Given the description of an element on the screen output the (x, y) to click on. 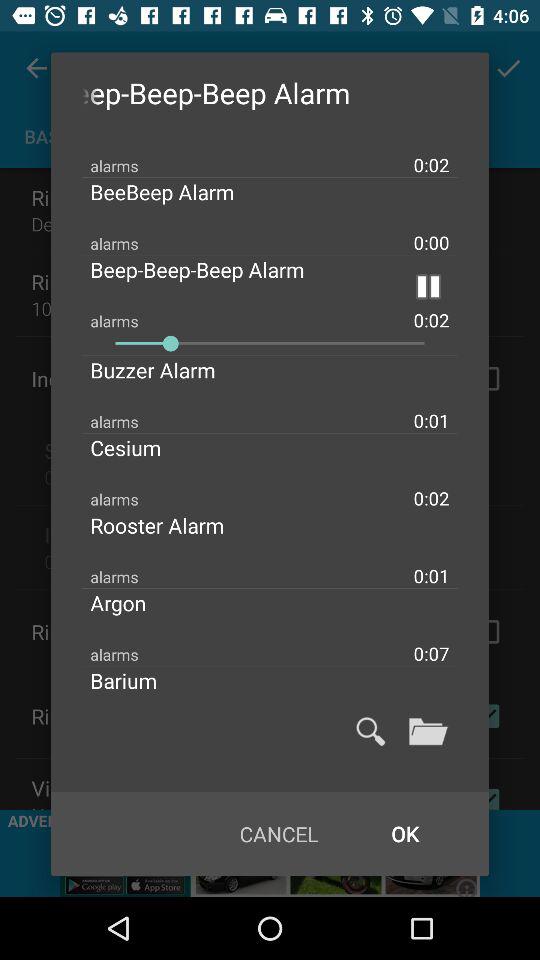
swipe until the buzzer alarm item (169, 369)
